Given the description of an element on the screen output the (x, y) to click on. 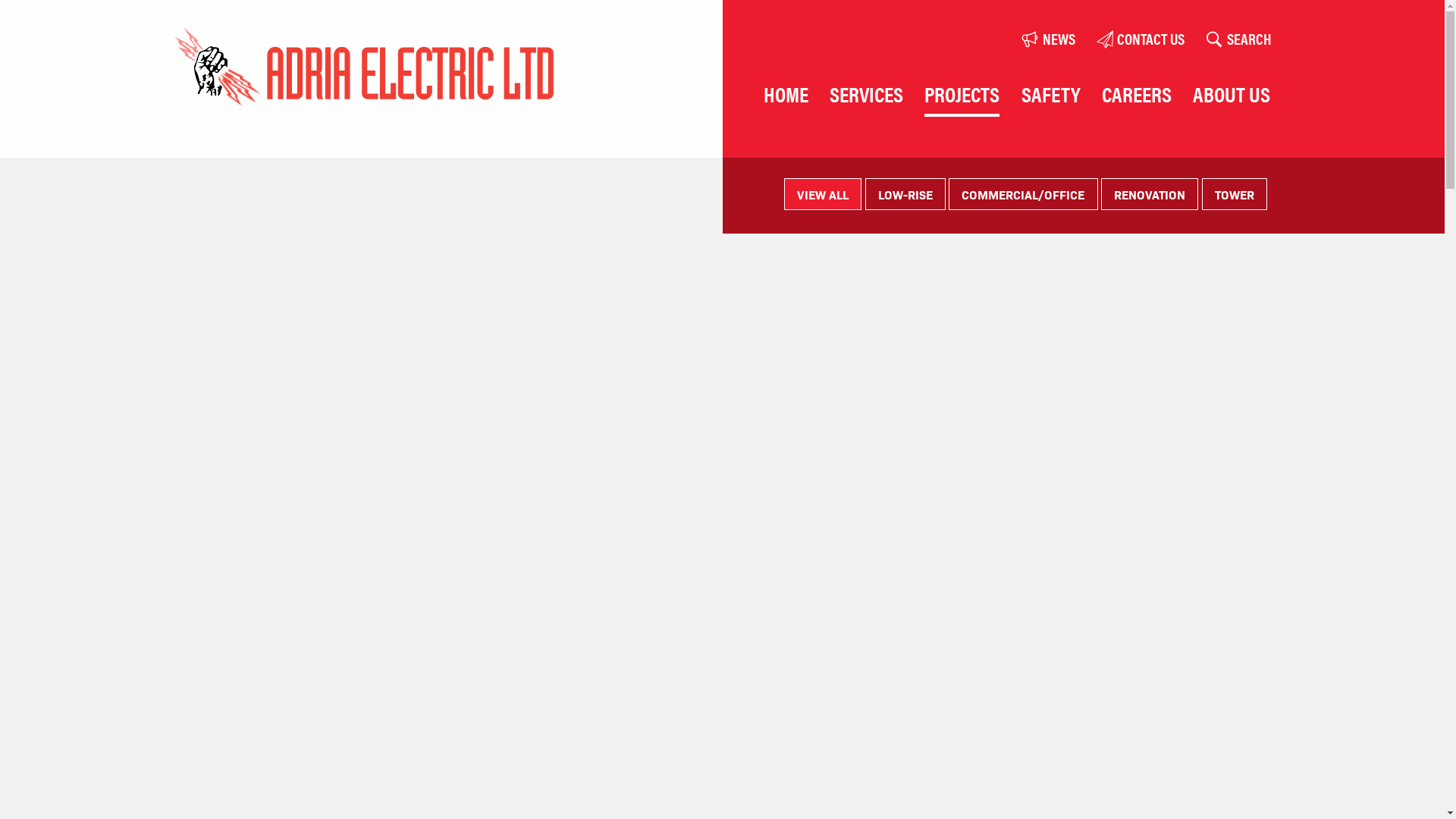
HOME Element type: text (784, 93)
SAFETY Element type: text (1050, 93)
PROJECTS Element type: text (961, 93)
TOWER Element type: text (1234, 194)
SERVICES Element type: text (866, 93)
SEARCH Element type: text (1237, 38)
CAREERS Element type: text (1136, 93)
CONTACT US Element type: text (1139, 38)
NEWS Element type: text (1047, 38)
RENOVATION Element type: text (1149, 194)
LOW-RISE Element type: text (905, 194)
VIEW ALL Element type: text (822, 194)
Adria Electric Ltd. - Return to home page Element type: text (363, 68)
ABOUT US Element type: text (1231, 93)
COMMERCIAL/OFFICE Element type: text (1022, 194)
